Given the description of an element on the screen output the (x, y) to click on. 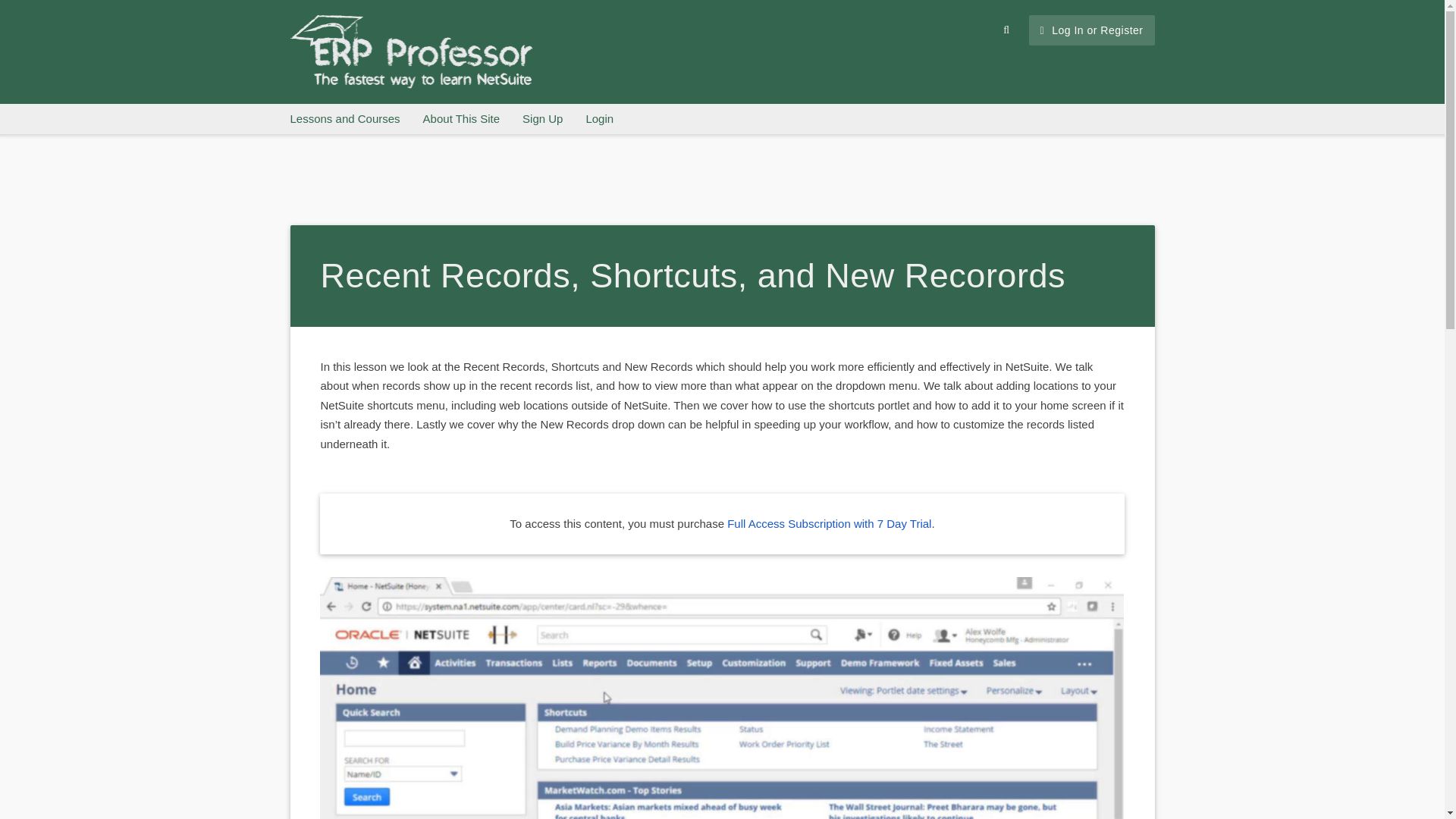
Full Access Subscription with 7 Day Trial (828, 522)
Log In or Register (1091, 30)
About This Site (461, 119)
Log In or Register (1091, 30)
Search (1005, 30)
Lessons and Courses (343, 119)
Login (598, 119)
Sign Up (542, 119)
